Given the description of an element on the screen output the (x, y) to click on. 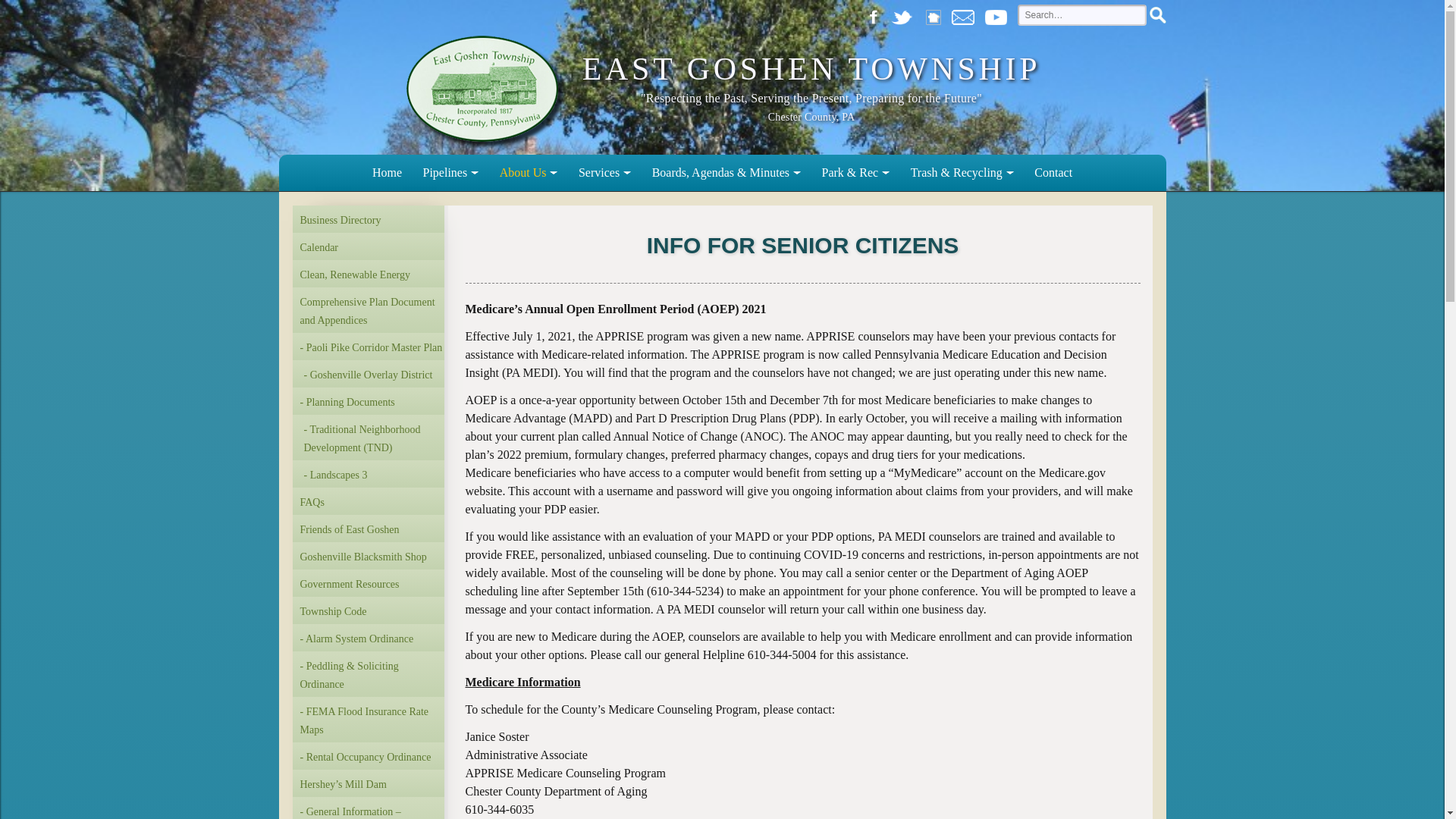
Constant Contact (966, 15)
Pipelines (450, 173)
Search (1158, 14)
Nextdoor (937, 15)
Services (604, 173)
YouTube (999, 15)
Home (386, 173)
Search EastGoshen.org (1082, 14)
Twitter (905, 15)
About Us (528, 173)
